Given the description of an element on the screen output the (x, y) to click on. 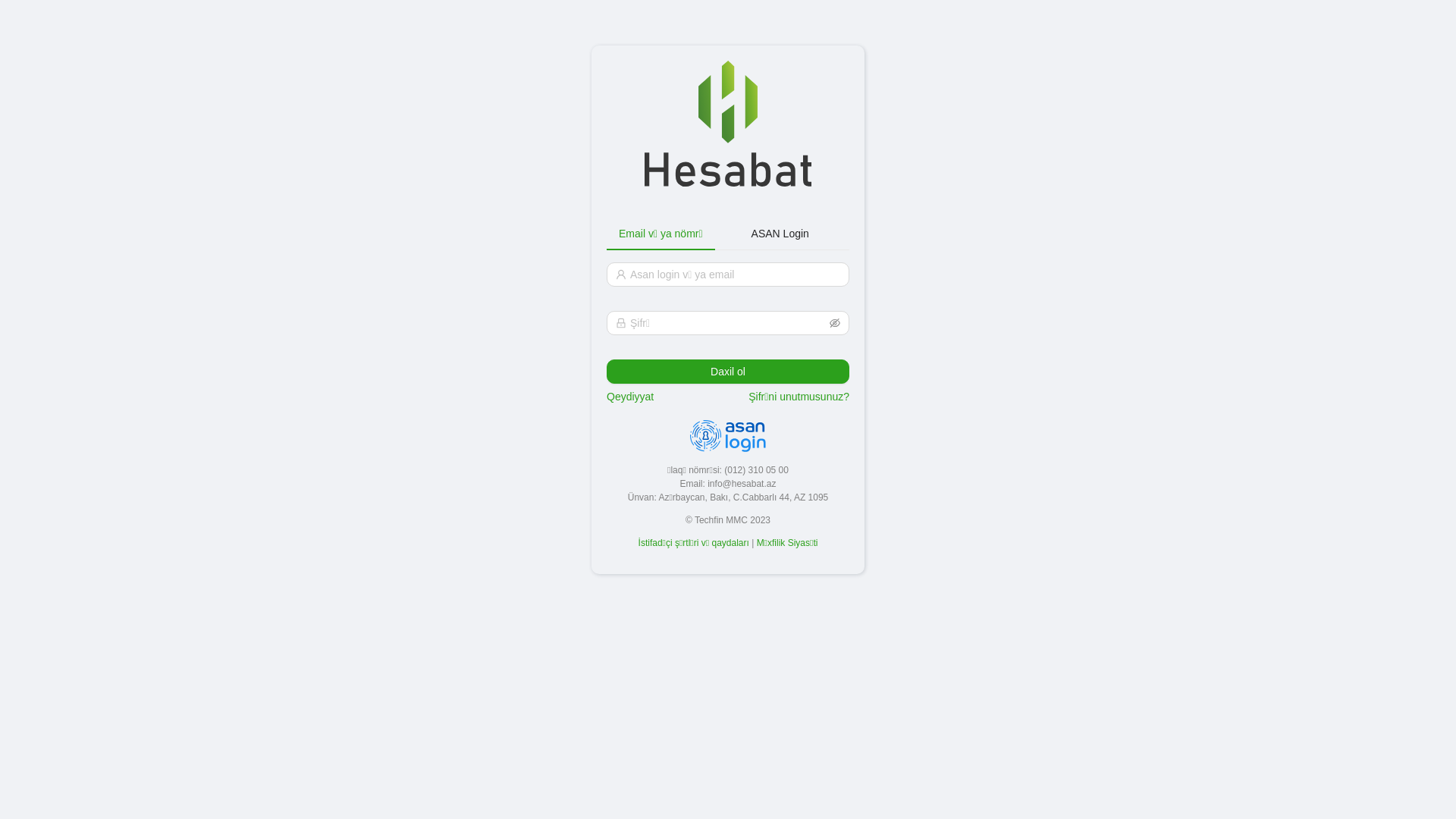
Qeydiyyat Element type: text (629, 286)
Daxil ol Element type: text (727, 261)
